Given the description of an element on the screen output the (x, y) to click on. 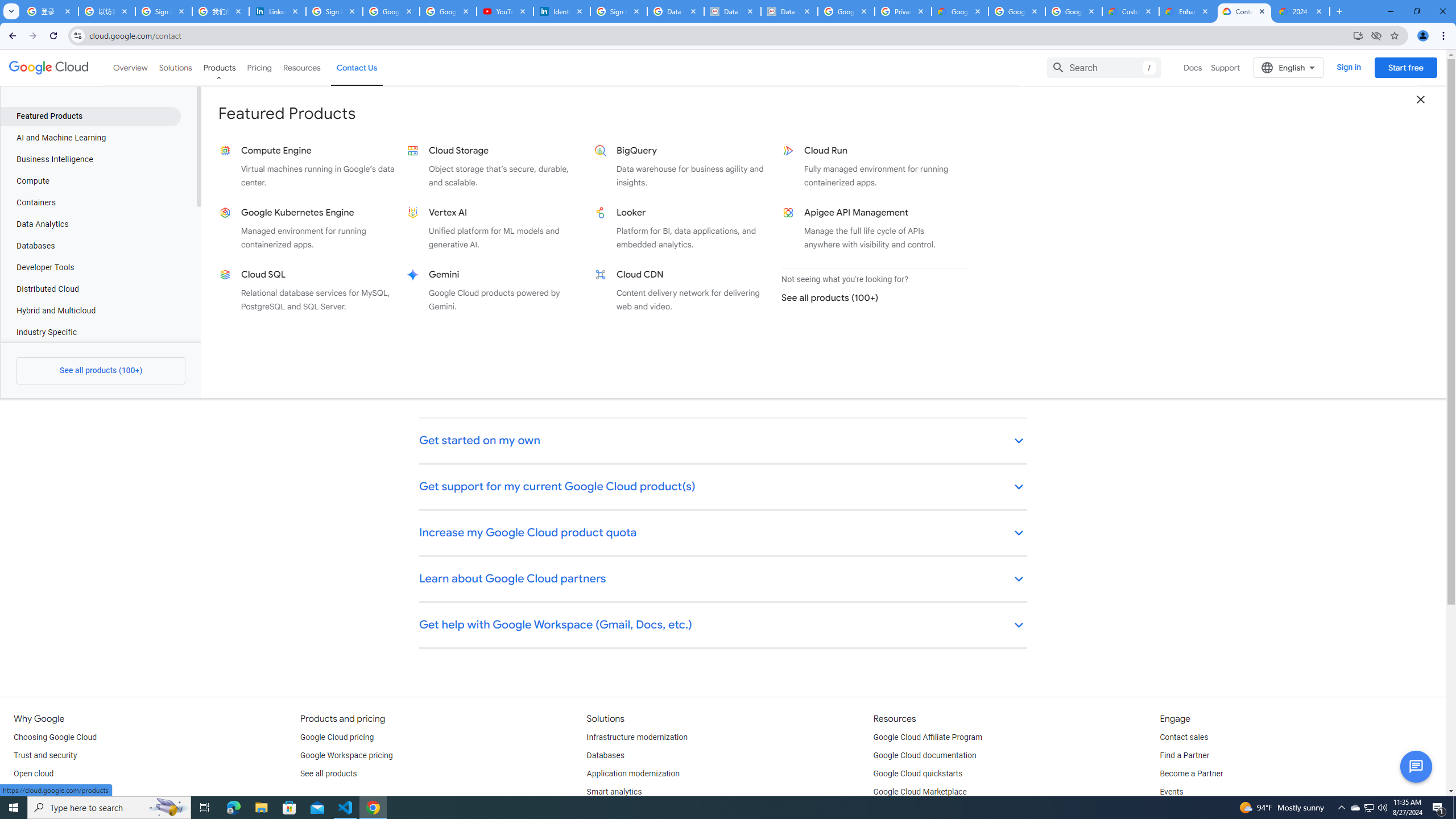
Close dropdown menu (1420, 99)
Google Cloud quickstarts (917, 773)
Start free (1405, 67)
Sign in - Google Accounts (334, 11)
Databases (605, 755)
Trust and security (45, 755)
Gemini Google Cloud products powered by Gemini. (495, 290)
Smart analytics (614, 791)
Infrastructure modernization (637, 737)
Hybrid and Multicloud (90, 311)
